Given the description of an element on the screen output the (x, y) to click on. 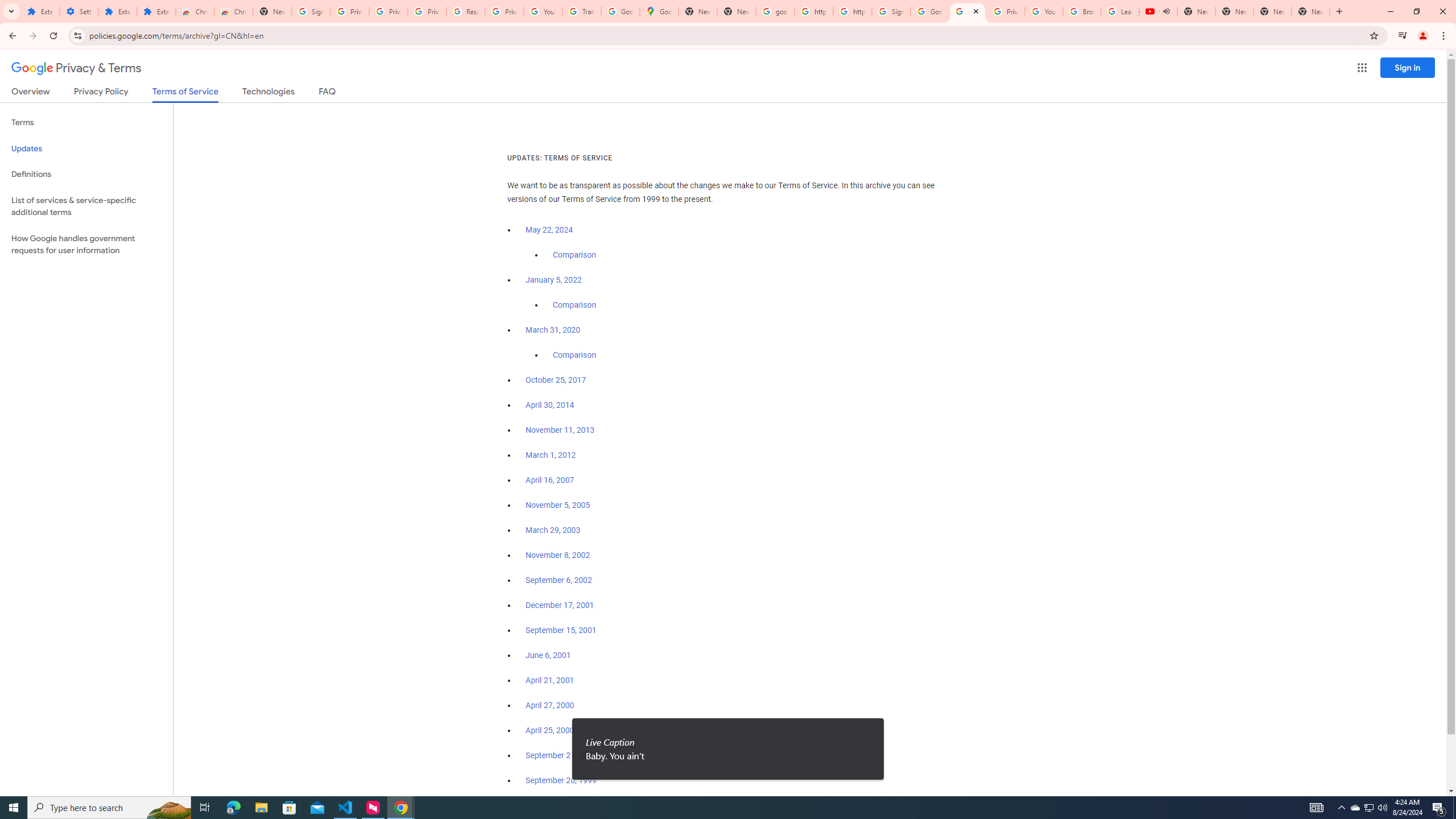
Chrome Web Store (194, 11)
September 20, 1999 (560, 780)
May 22, 2024 (549, 230)
New Tab (1311, 11)
YouTube (542, 11)
September 6, 2002 (558, 579)
Chrome Web Store - Themes (233, 11)
Extensions (117, 11)
June 6, 2001 (547, 655)
